Given the description of an element on the screen output the (x, y) to click on. 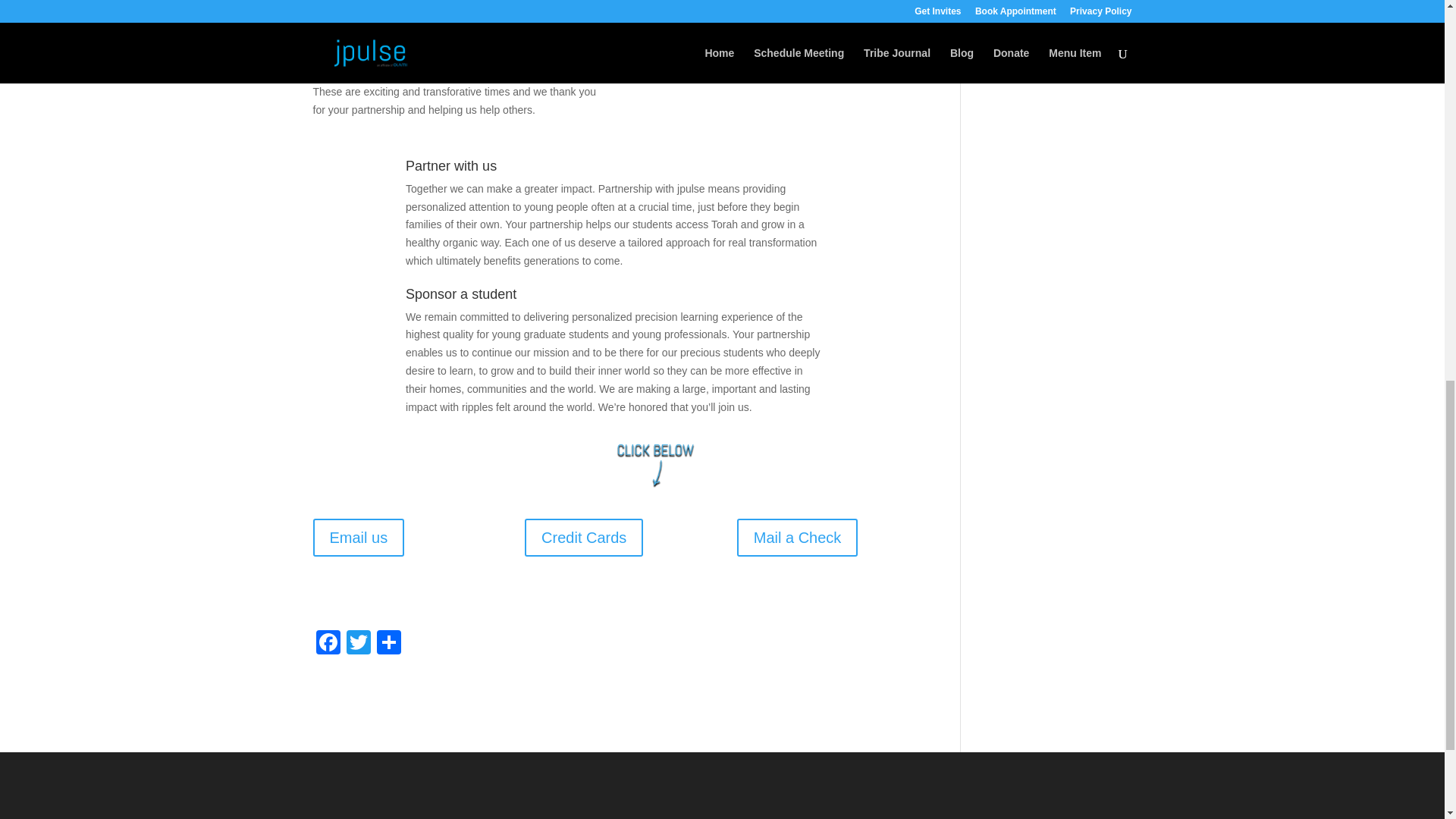
Email us (358, 537)
Credit Cards (583, 537)
Mail a Check (797, 537)
Facebook (327, 643)
Twitter (357, 643)
Twitter (357, 643)
Facebook (327, 643)
